Given the description of an element on the screen output the (x, y) to click on. 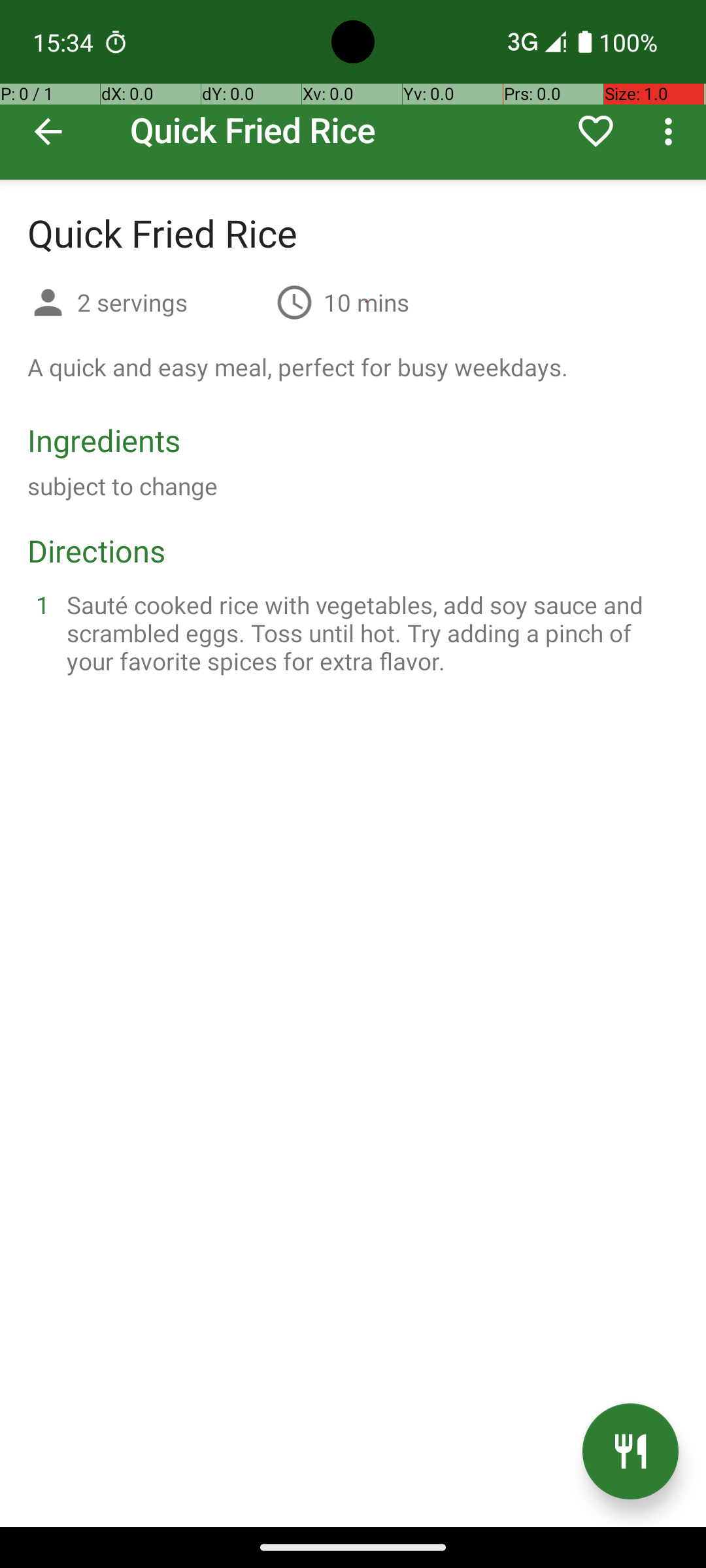
subject to change Element type: android.widget.TextView (122, 485)
Sauté cooked rice with vegetables, add soy sauce and scrambled eggs. Toss until hot. Try adding a pinch of your favorite spices for extra flavor. Element type: android.widget.TextView (368, 632)
